Given the description of an element on the screen output the (x, y) to click on. 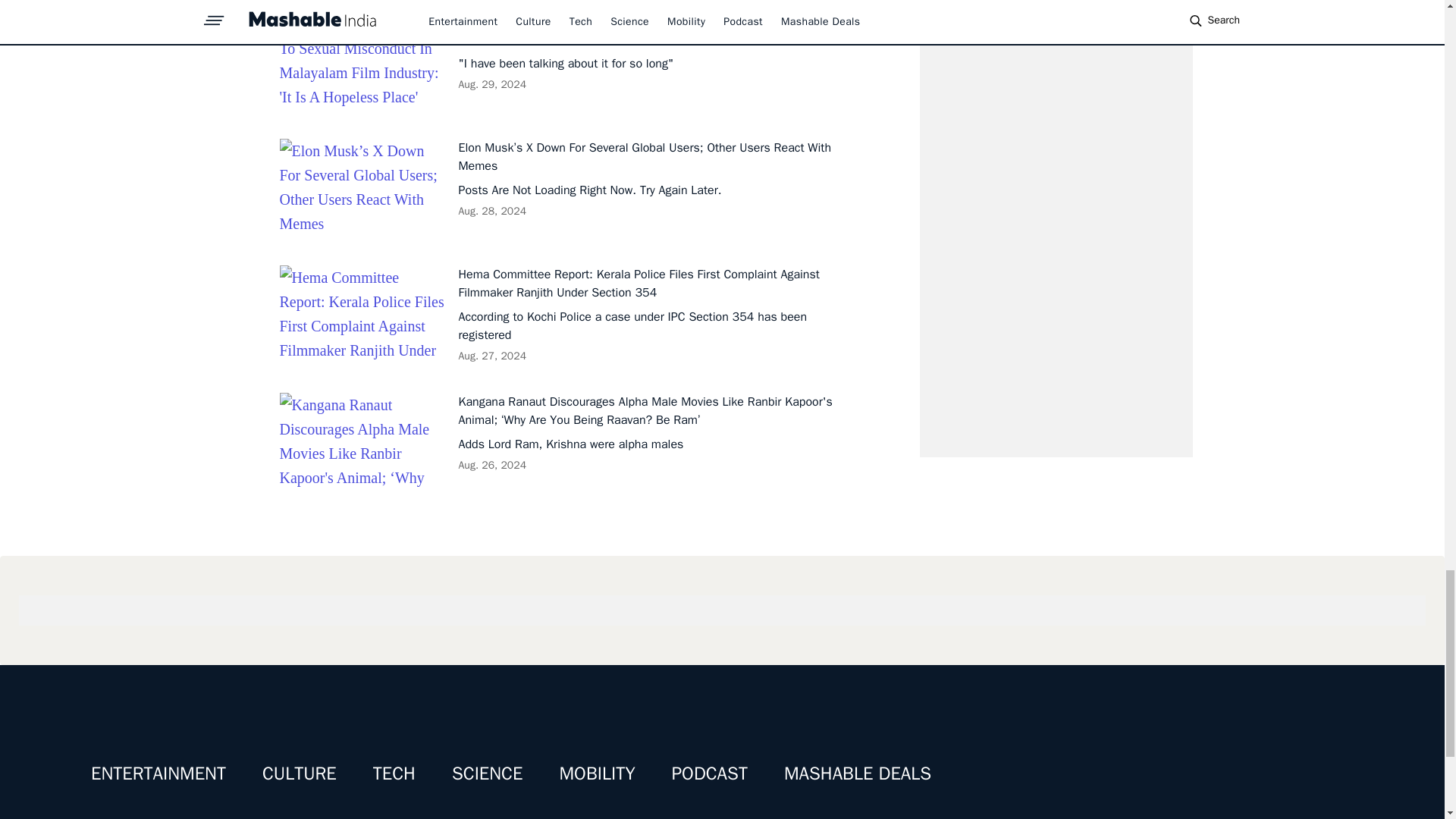
TECH (393, 773)
SCIENCE (486, 773)
ENTERTAINMENT (157, 773)
CULTURE (299, 773)
MOBILITY (596, 773)
